Given the description of an element on the screen output the (x, y) to click on. 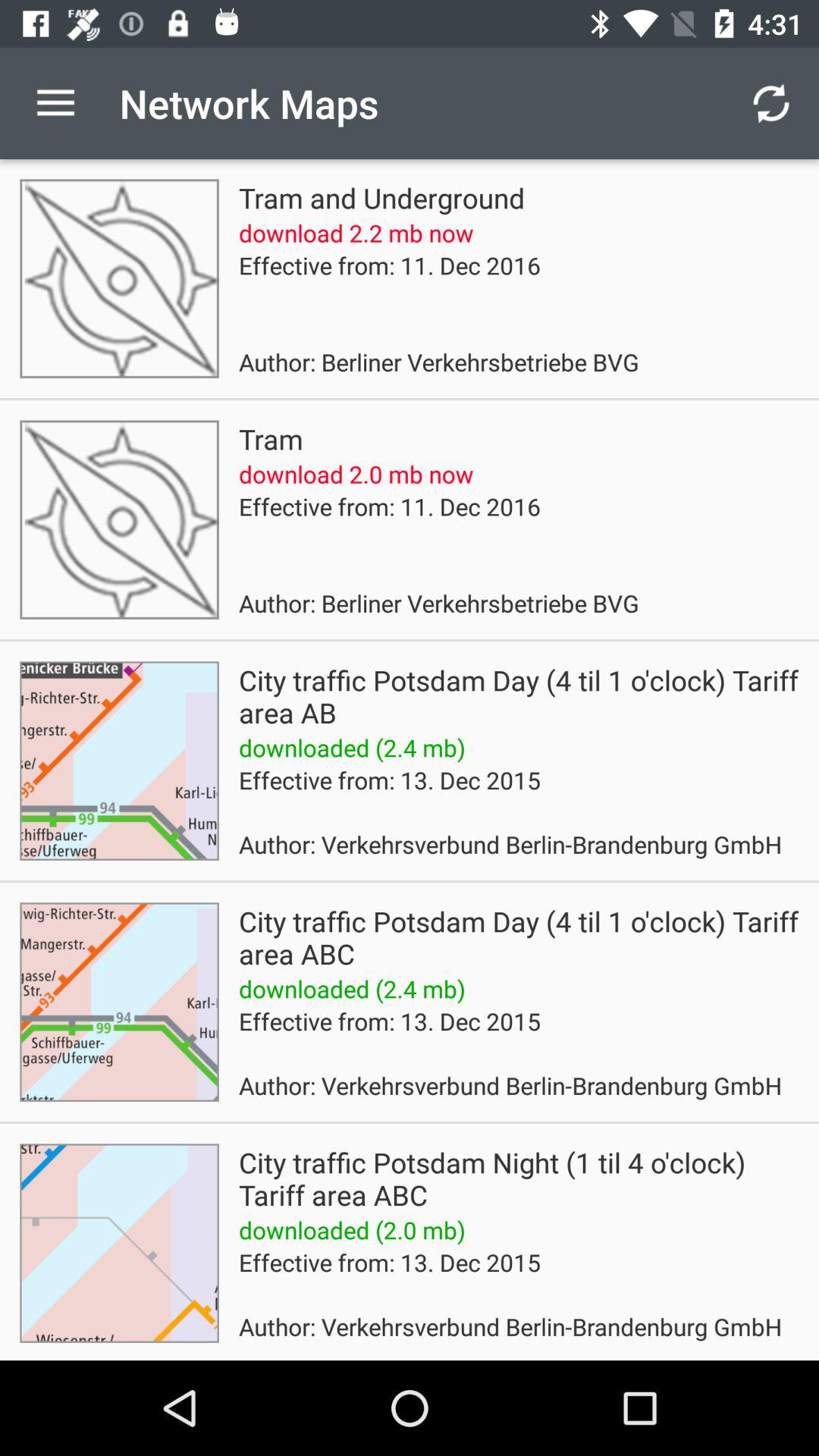
launch tram and underground icon (381, 197)
